Given the description of an element on the screen output the (x, y) to click on. 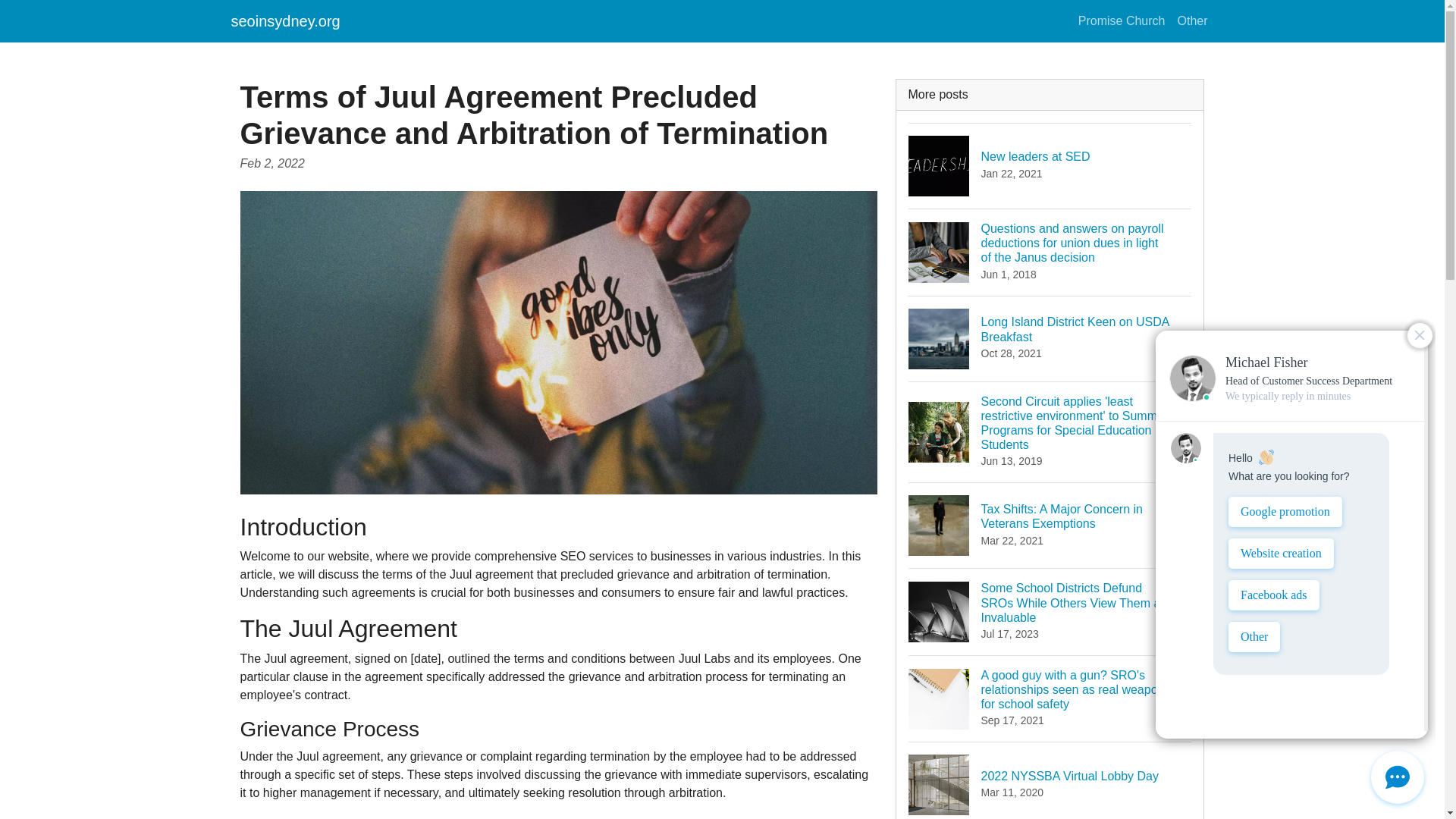
Other (1050, 338)
Promise Church (1050, 165)
seoinsydney.org (1050, 780)
